Given the description of an element on the screen output the (x, y) to click on. 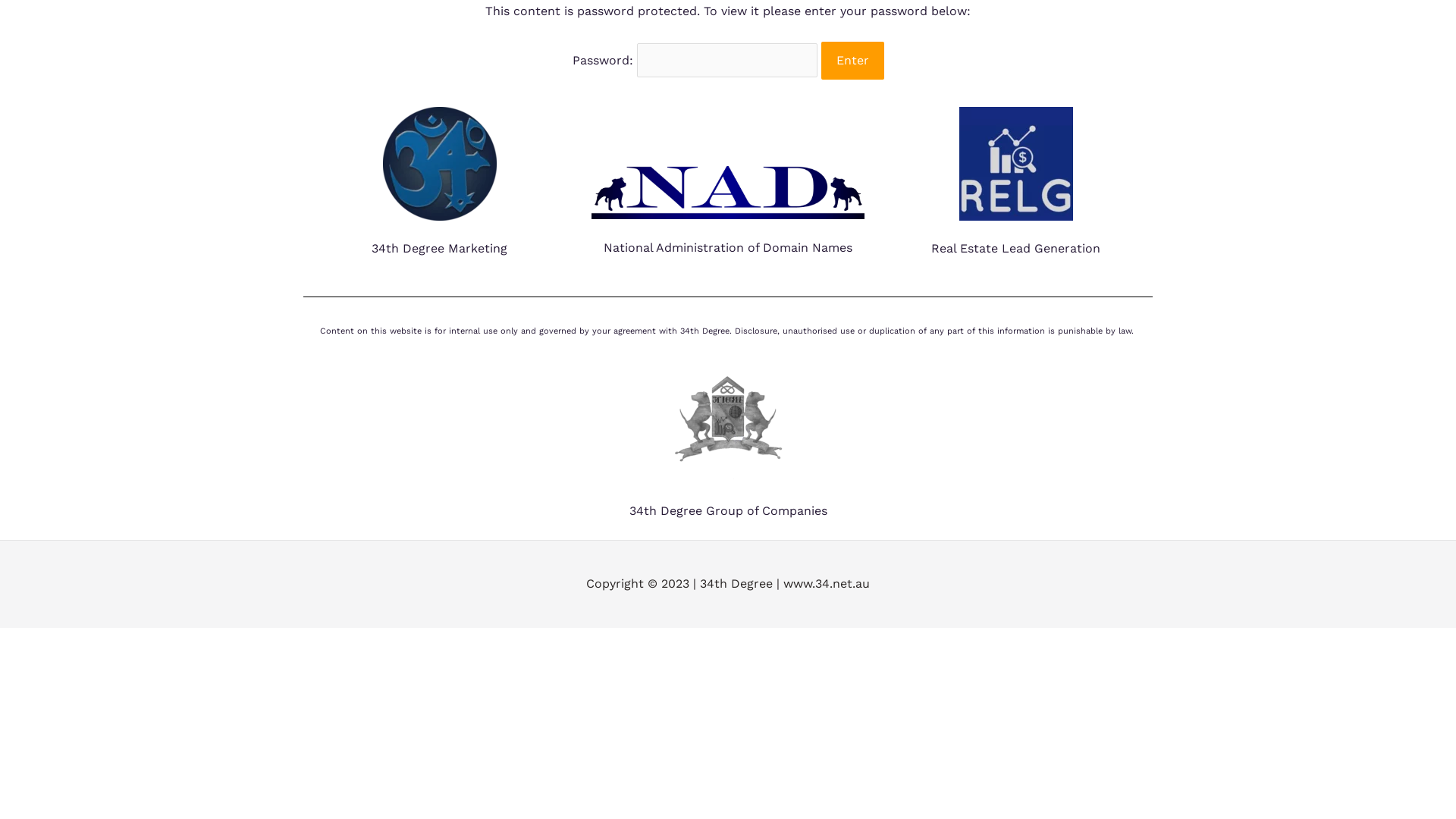
Enter Element type: text (851, 60)
